Given the description of an element on the screen output the (x, y) to click on. 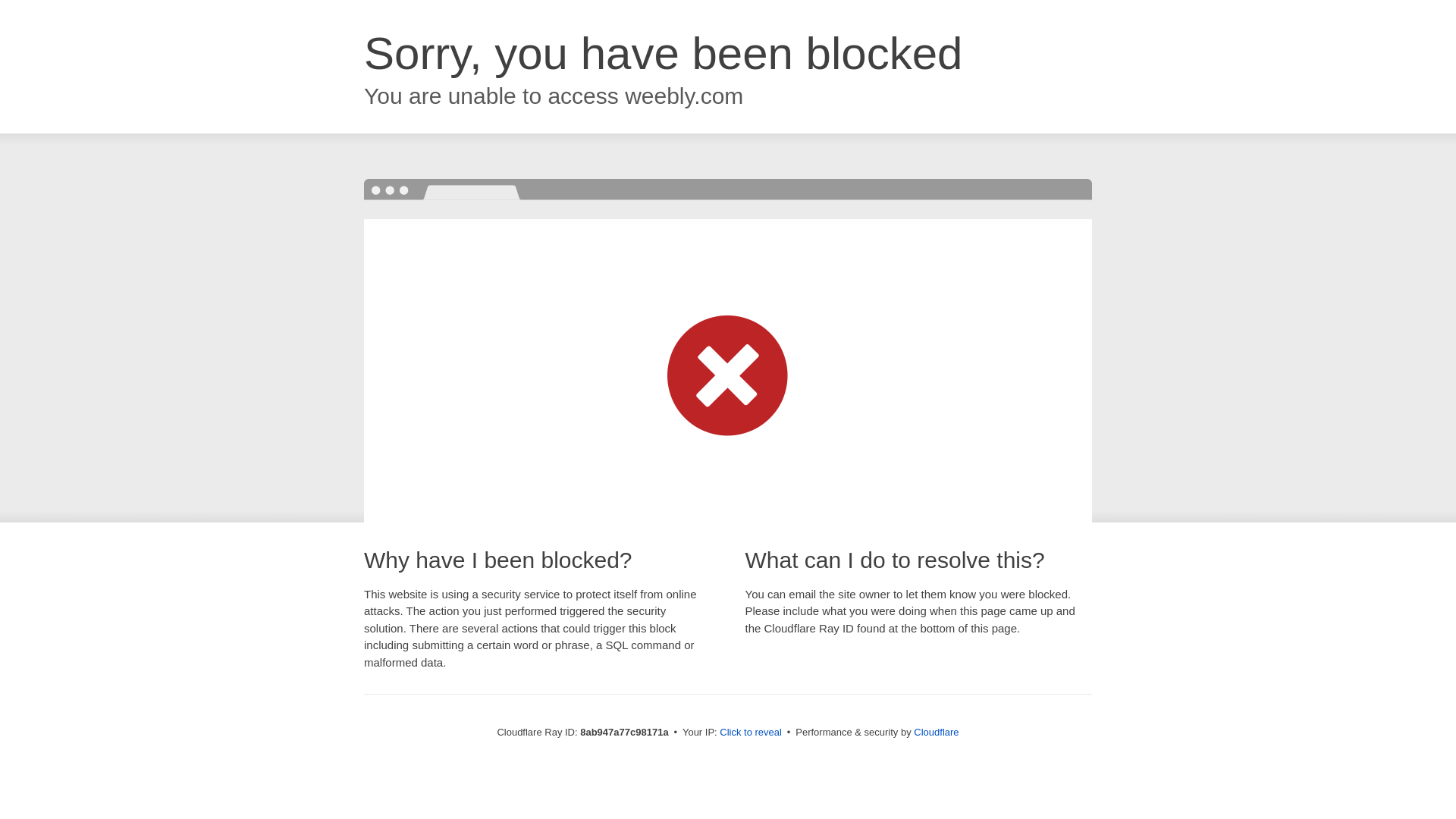
Click to reveal (750, 732)
Cloudflare (936, 731)
